Given the description of an element on the screen output the (x, y) to click on. 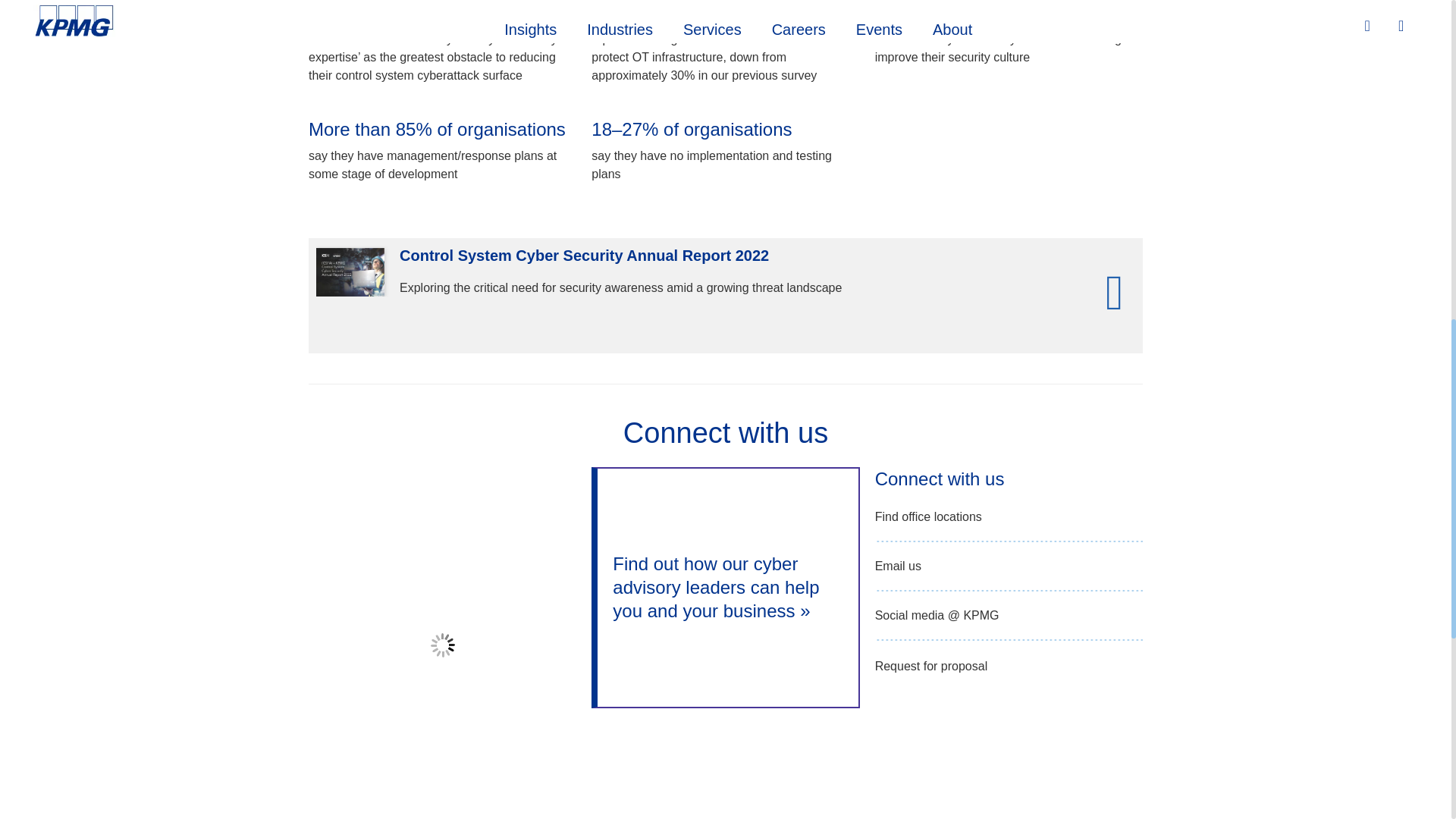
Find office locations (928, 517)
Request for proposal (931, 666)
Email us (898, 566)
